Given the description of an element on the screen output the (x, y) to click on. 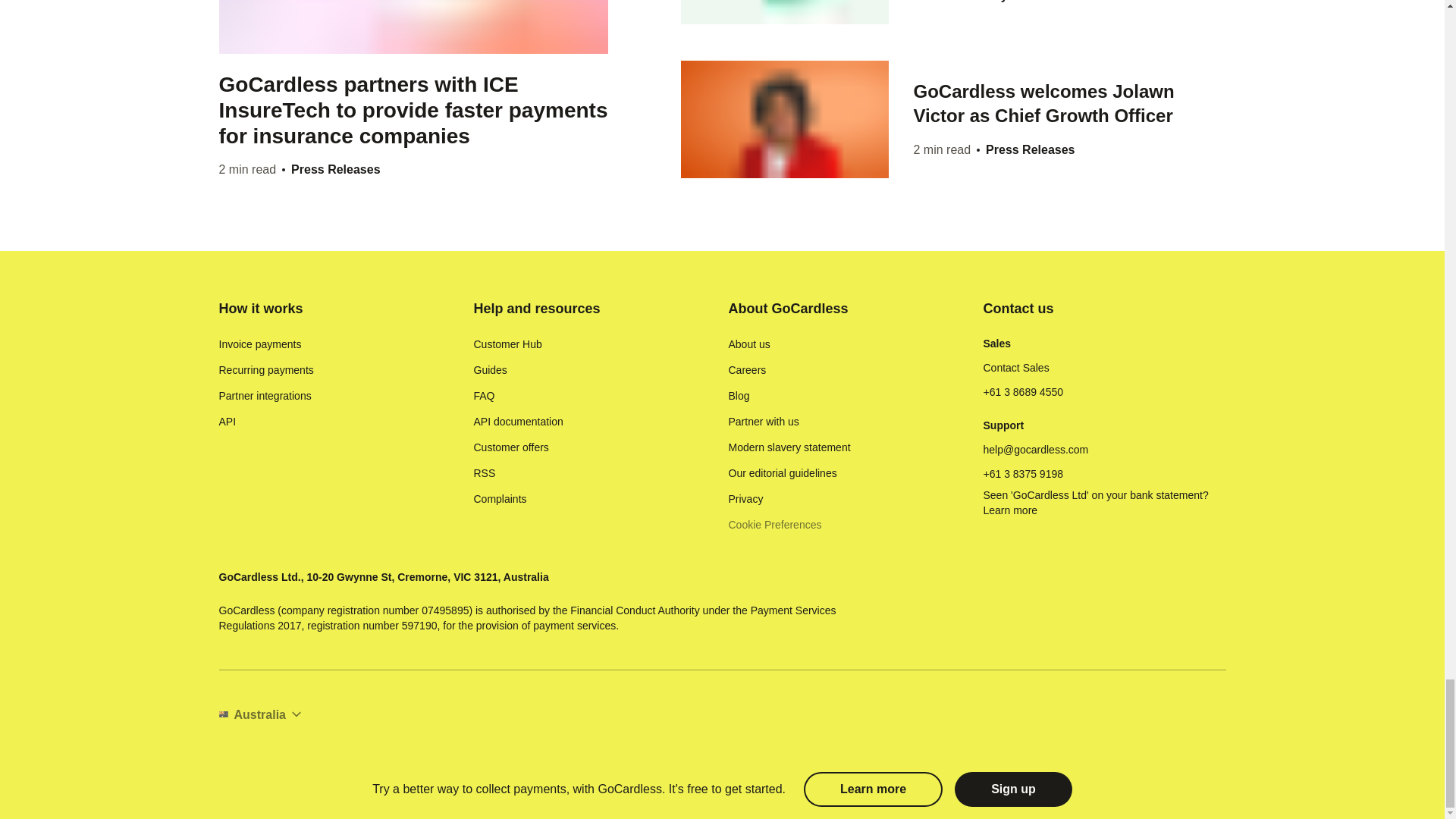
About us (749, 344)
Partner integrations (264, 395)
Privacy (745, 498)
Careers (746, 369)
Invoice payments (259, 344)
Recurring payments (265, 369)
Guides (489, 369)
Customer Hub (507, 344)
Customer offers (510, 447)
Partner with us (762, 421)
FAQ (484, 395)
API documentation (517, 421)
Our editorial guidelines (781, 473)
API (226, 421)
Blog (738, 395)
